Given the description of an element on the screen output the (x, y) to click on. 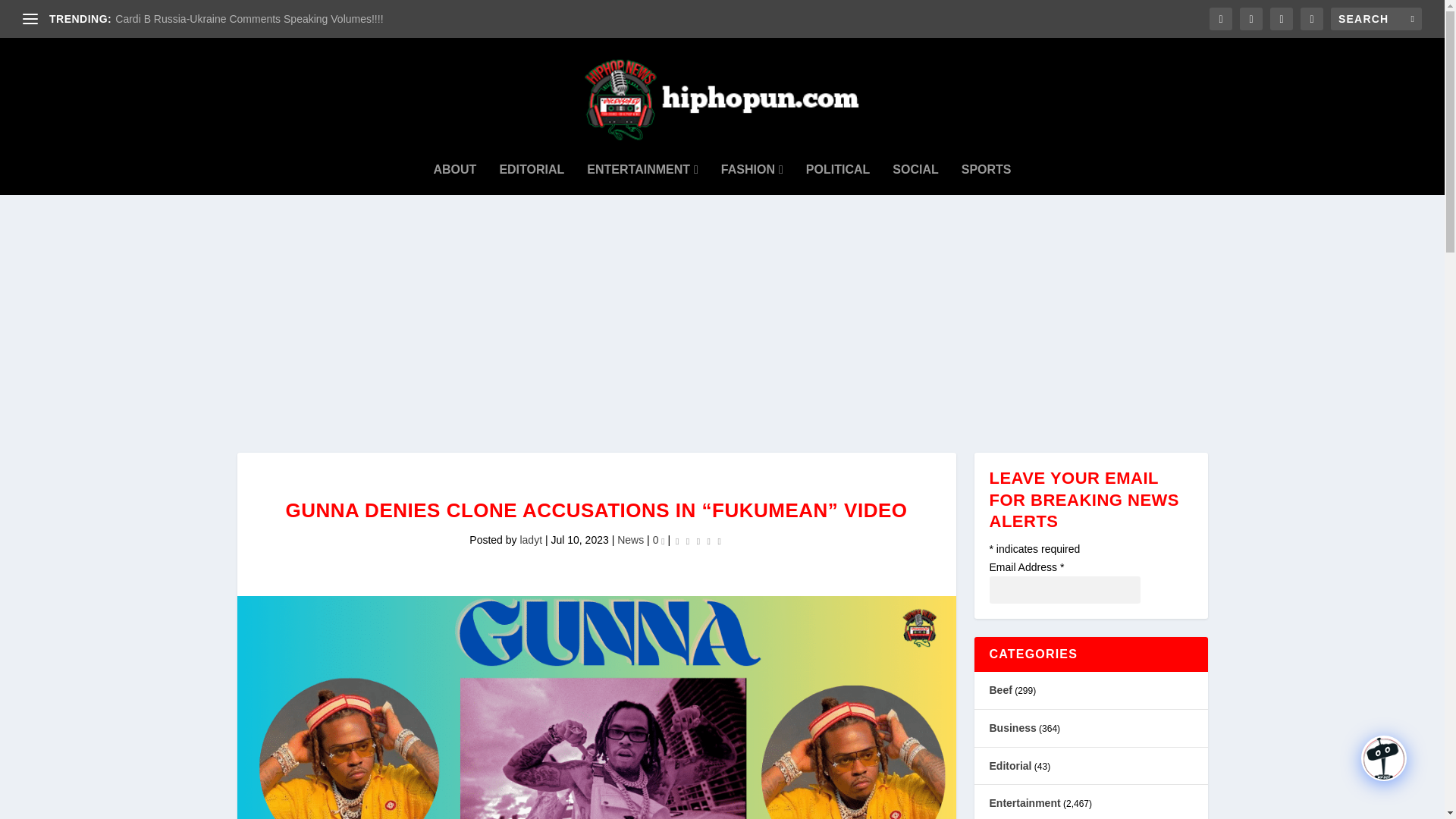
Cardi B Russia-Ukraine Comments Speaking Volumes!!!! (248, 19)
ENTERTAINMENT (642, 169)
FASHION (751, 169)
Search for: (1376, 18)
EDITORIAL (531, 169)
